Given the description of an element on the screen output the (x, y) to click on. 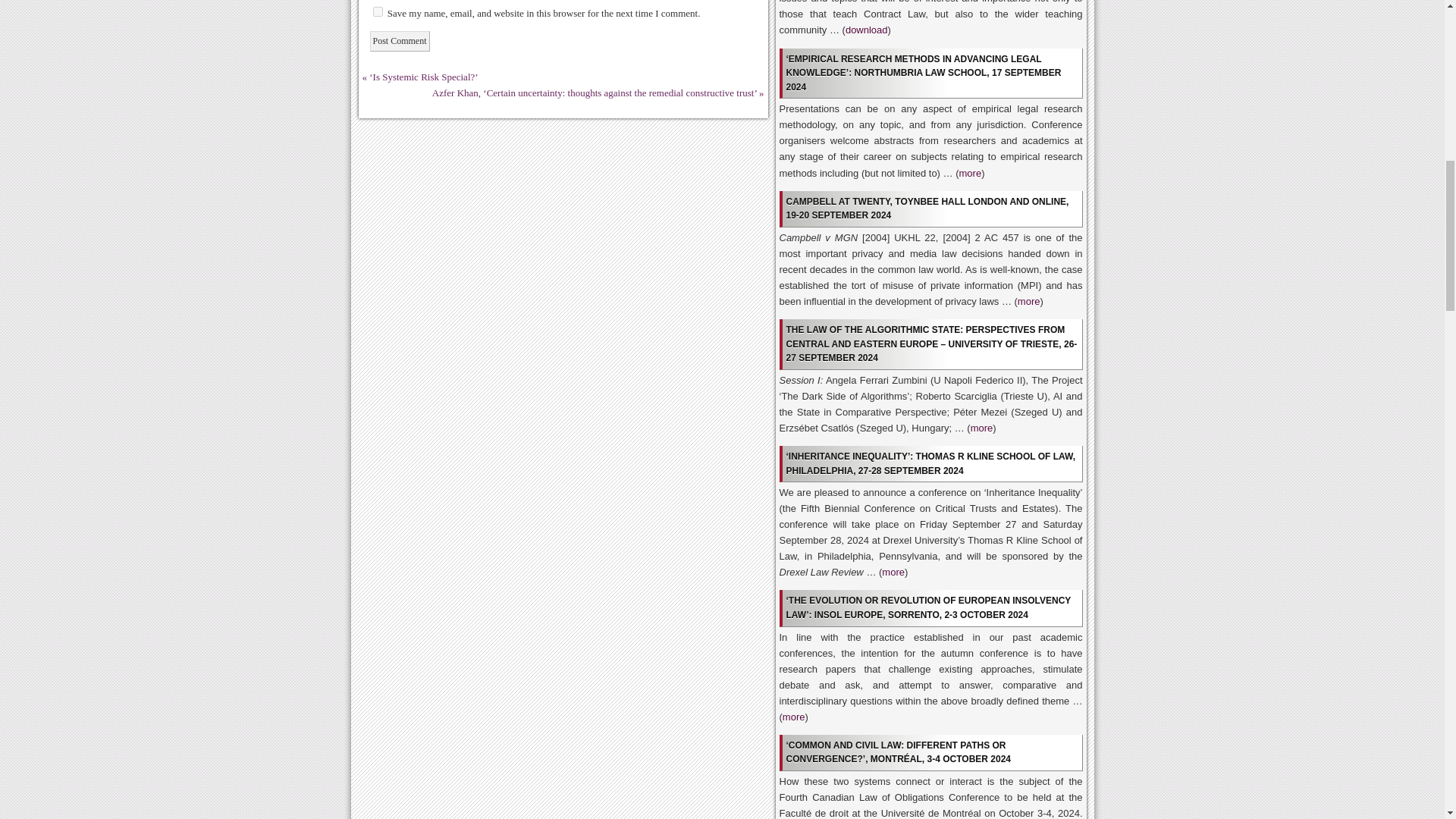
Post Comment (399, 41)
yes (377, 11)
